Given the description of an element on the screen output the (x, y) to click on. 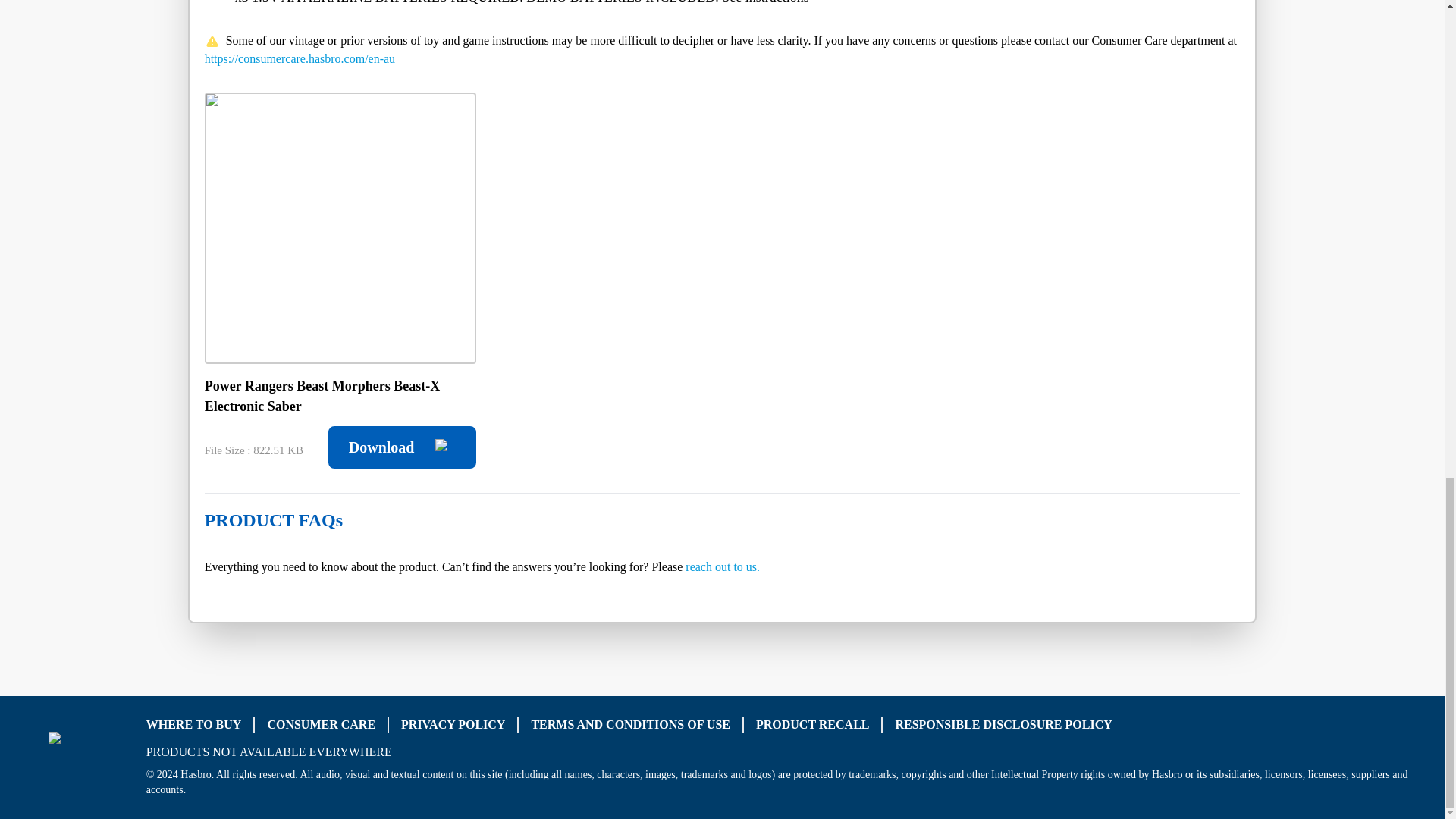
PRIVACY POLICY (453, 724)
RESPONSIBLE DISCLOSURE POLICY (1003, 724)
CONSUMER CARE (320, 724)
WHERE TO BUY (194, 724)
Download (402, 446)
reach out to us. (722, 566)
PRODUCT RECALL (812, 724)
TERMS AND CONDITIONS OF USE (630, 724)
